Given the description of an element on the screen output the (x, y) to click on. 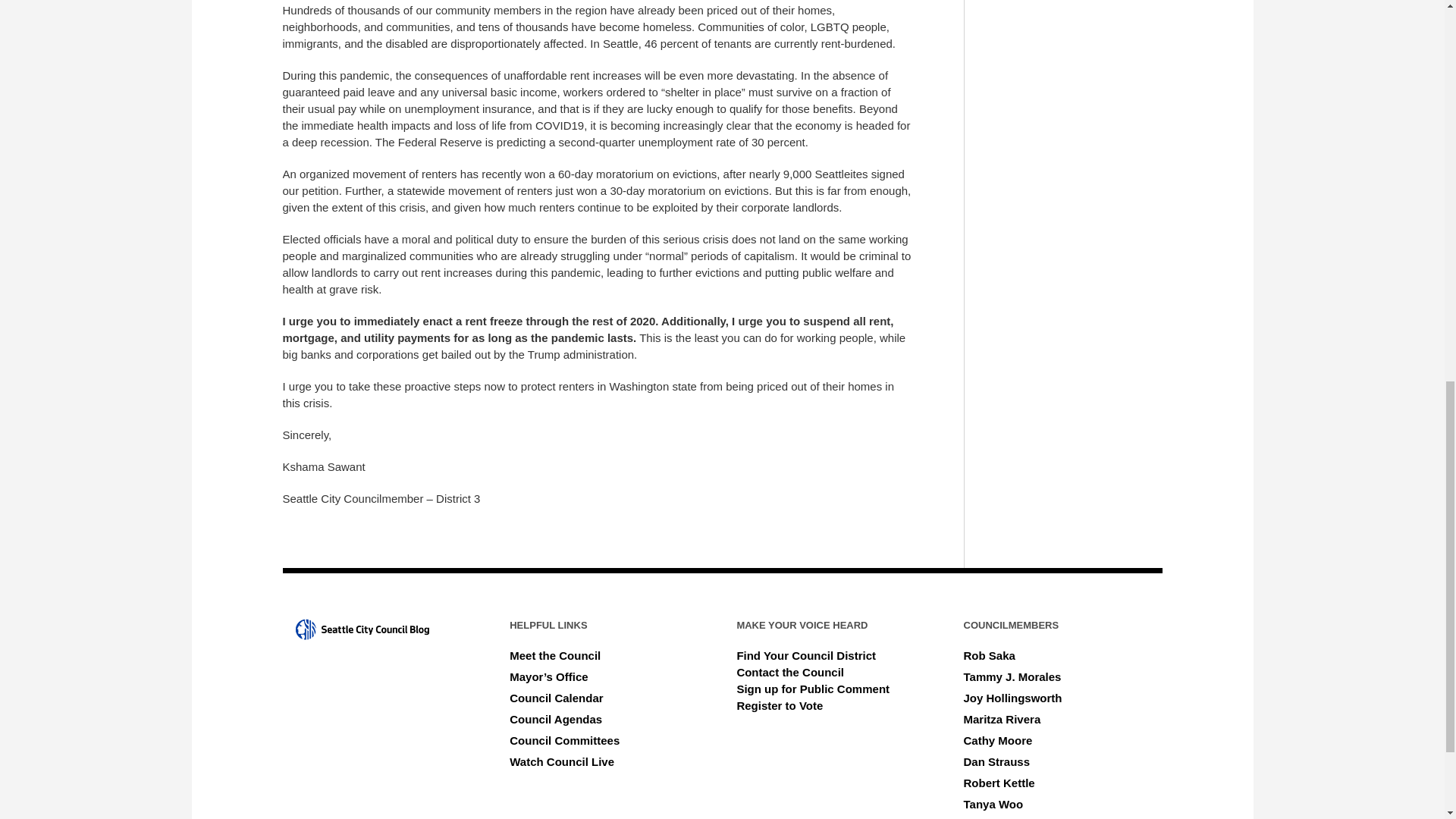
Watch Council Live (561, 761)
Cathy Moore (997, 739)
Find Your Council District (806, 655)
Maritza Rivera (1002, 718)
Rob Saka (988, 655)
Council Agendas (555, 718)
Council Committees (564, 739)
Contact the Council (790, 671)
Sign up for Public Comment (812, 688)
Tammy J. Morales (1012, 676)
